Given the description of an element on the screen output the (x, y) to click on. 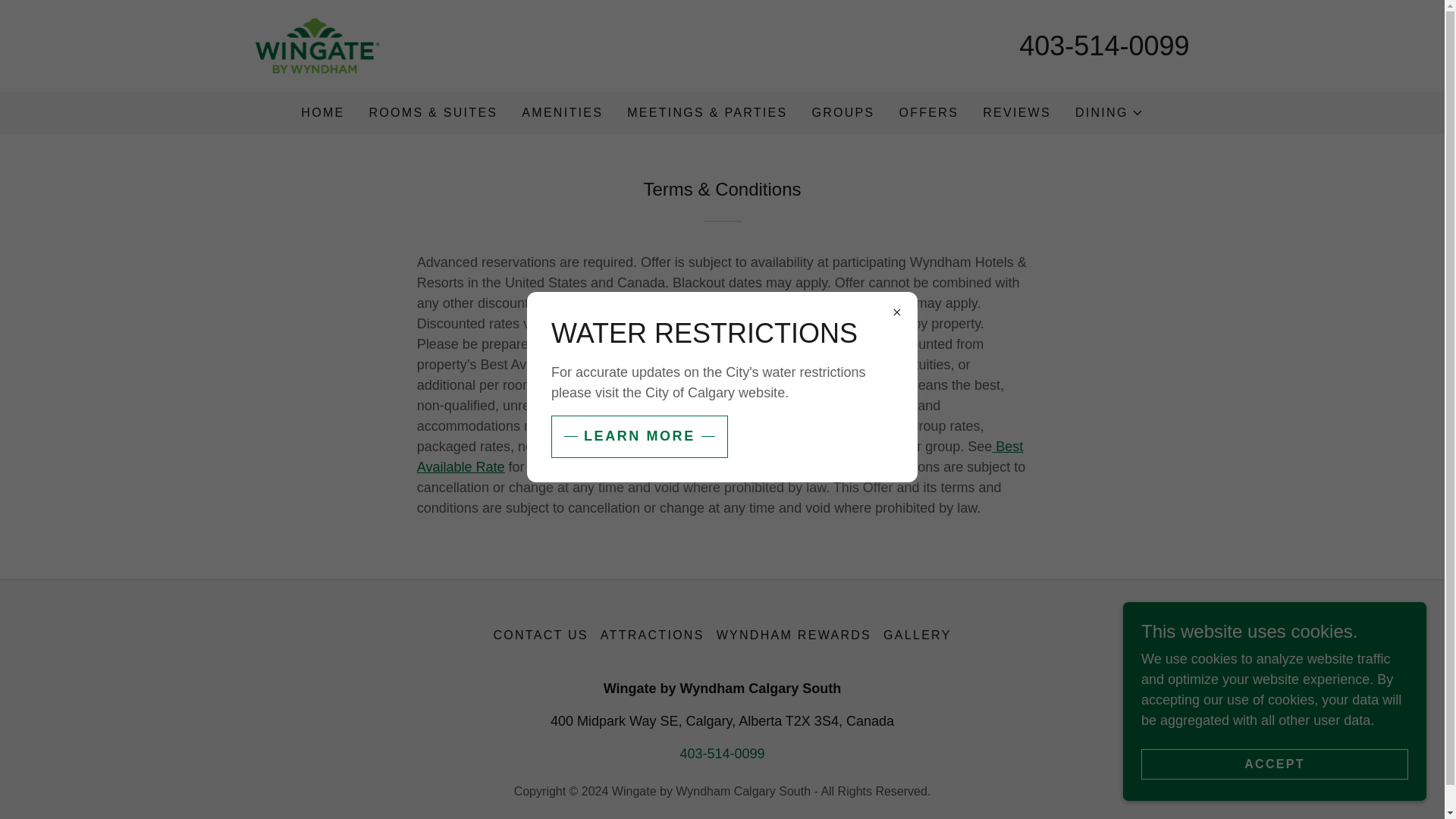
 Best Available Rate (719, 456)
GROUPS (842, 112)
AMENITIES (561, 112)
REVIEWS (1016, 112)
403-514-0099 (1104, 45)
ATTRACTIONS (652, 635)
OFFERS (929, 112)
WYNDHAM REWARDS (793, 635)
Wingate by Wyndham Calgary South (317, 44)
DINING (1108, 113)
